Given the description of an element on the screen output the (x, y) to click on. 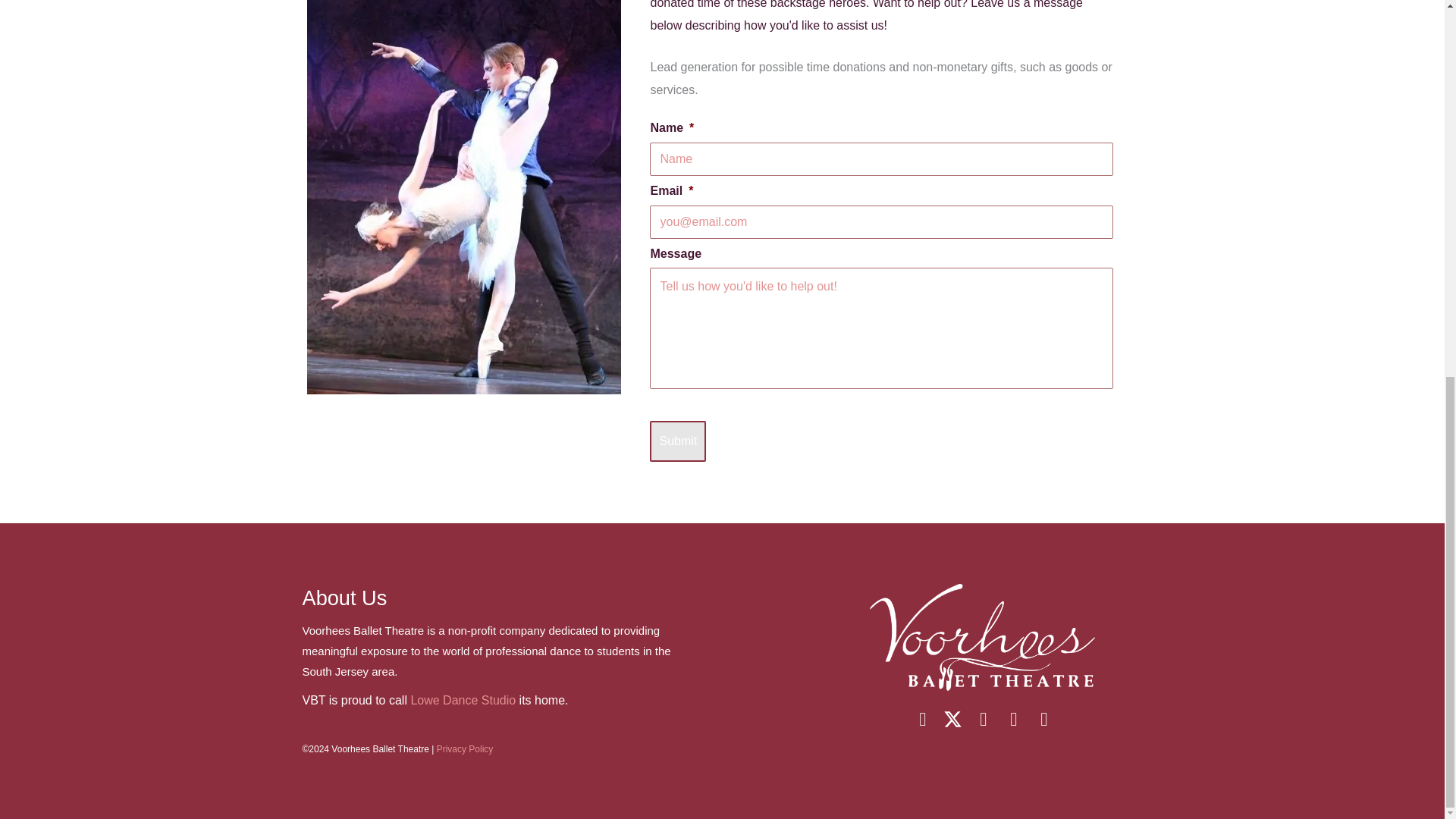
Instagram (983, 718)
Submit (677, 440)
Email (1043, 718)
Facebook (922, 718)
swan (464, 196)
YouTube (1014, 718)
Privacy Policy (464, 748)
Submit (677, 440)
Lowe Dance Studio (462, 699)
